Given the description of an element on the screen output the (x, y) to click on. 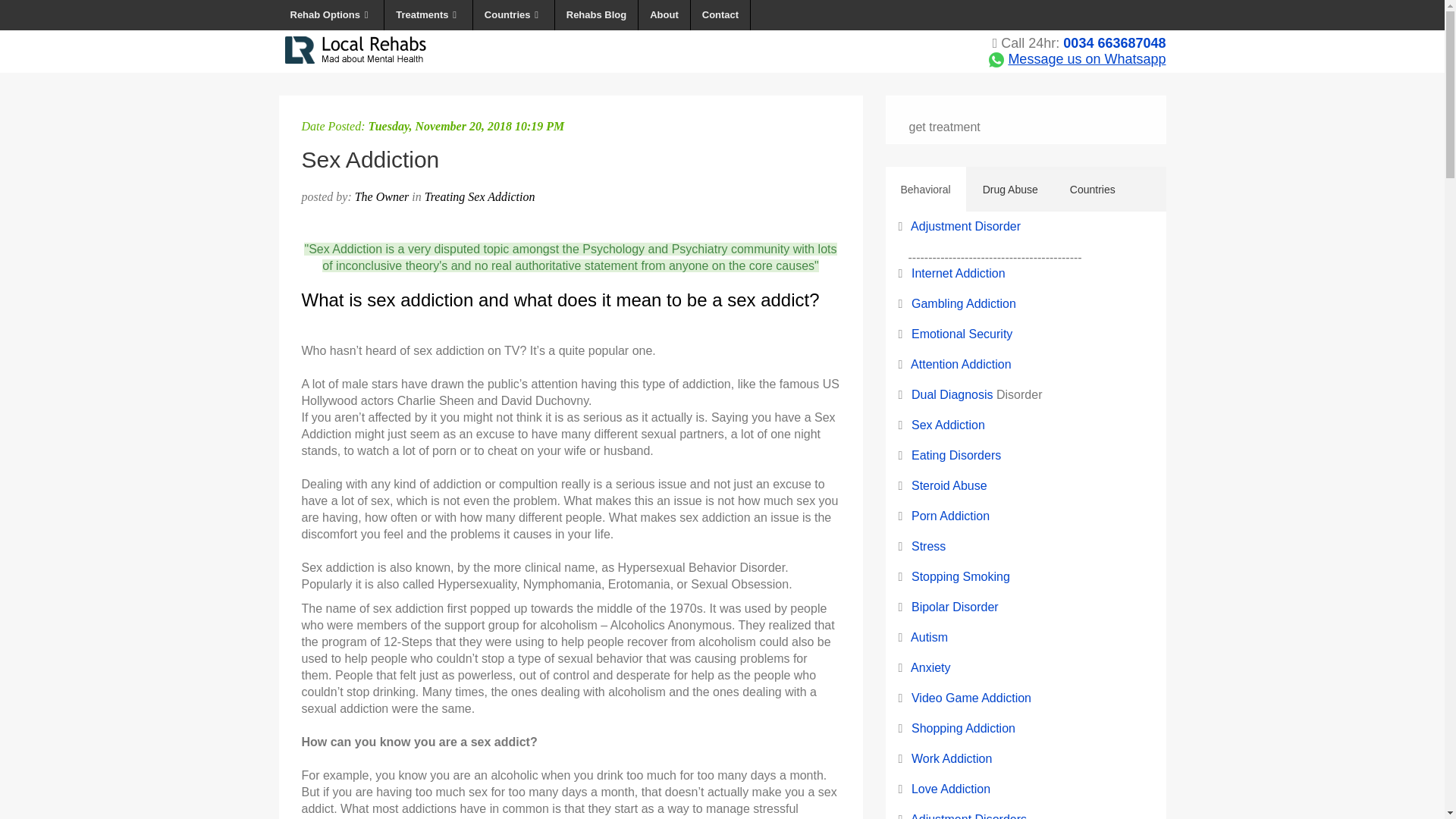
Steroid Abuse (950, 492)
0034 663687048 (1114, 43)
Rehab Options (332, 15)
Countries (513, 15)
Dual Diagnosis (951, 394)
Adjustment Disorder (965, 226)
Internet Addiction (958, 273)
Drug Abuse (1010, 189)
Behavioral (925, 189)
Adjustment Disorder (965, 226)
Contact us (720, 15)
Contact (720, 15)
Sex Addiction (948, 424)
About (664, 15)
about localrehabs (664, 15)
